Given the description of an element on the screen output the (x, y) to click on. 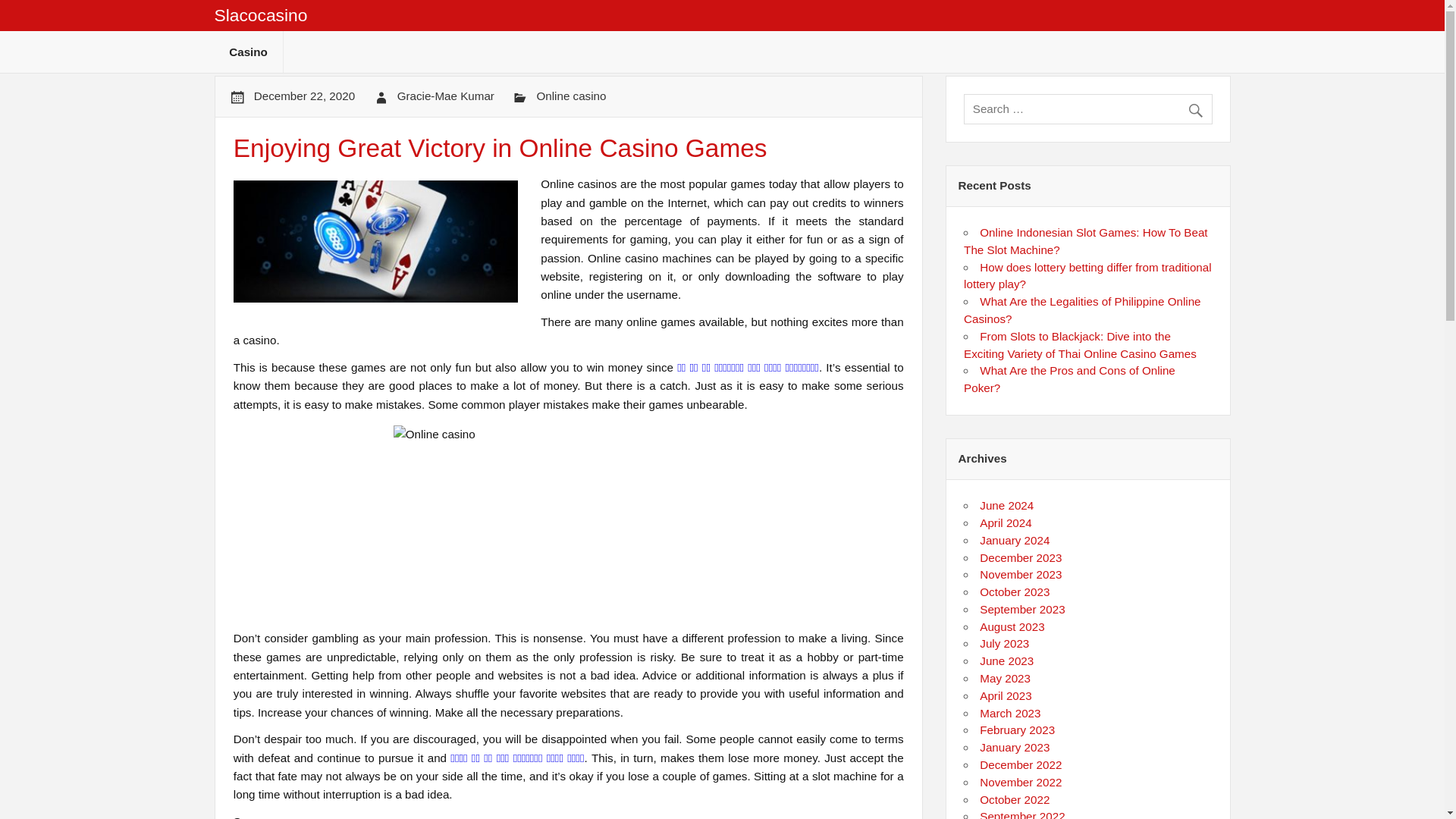
December 22, 2020 (304, 95)
December 2022 (1020, 764)
Slacocasino (260, 15)
1:24 pm (304, 95)
Casino (248, 51)
View all posts by Gracie-Mae Kumar (446, 95)
Gracie-Mae Kumar (446, 95)
July 2023 (1004, 643)
January 2023 (1014, 747)
May 2023 (1004, 677)
